Given the description of an element on the screen output the (x, y) to click on. 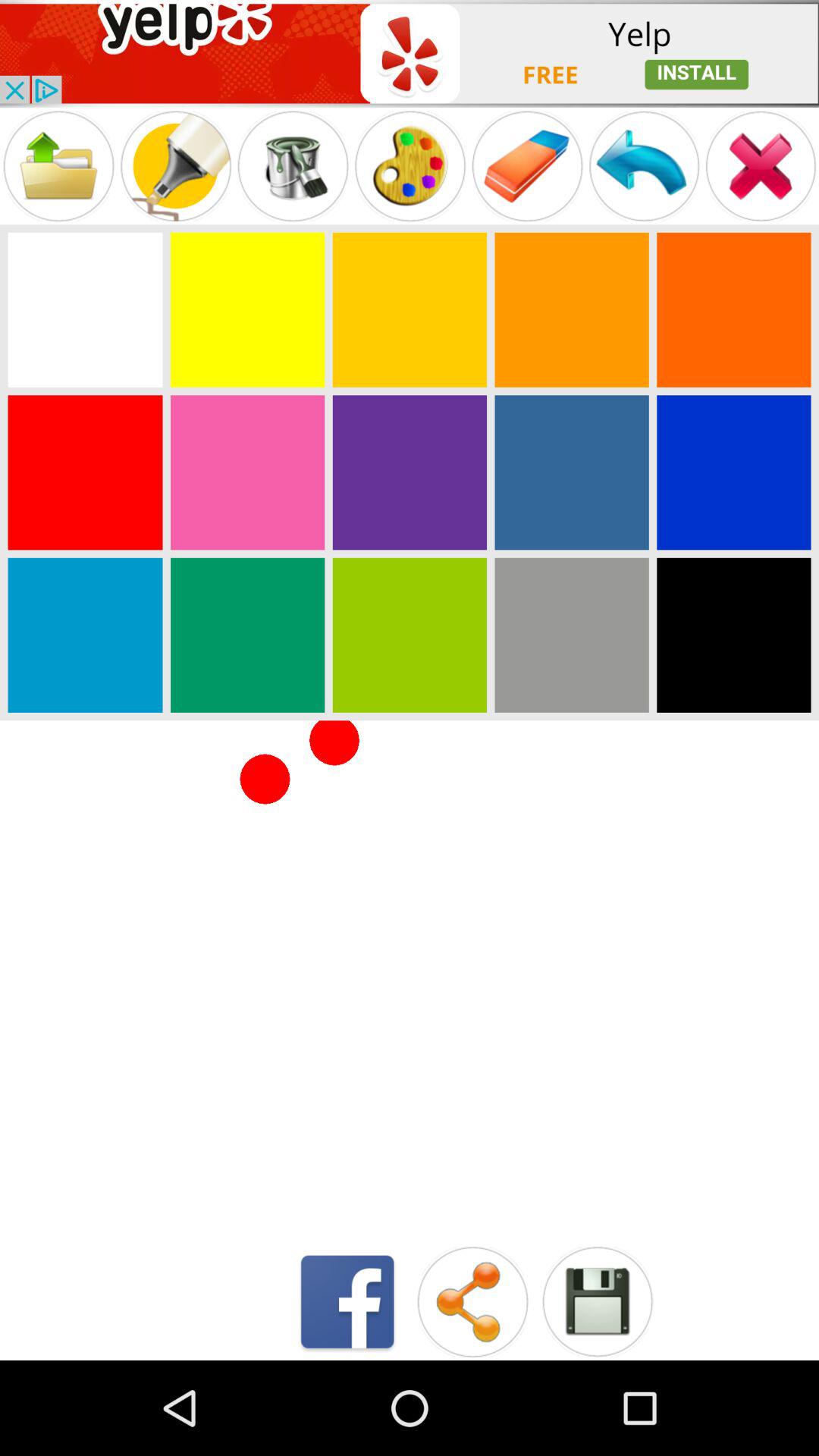
coloring page (247, 634)
